Given the description of an element on the screen output the (x, y) to click on. 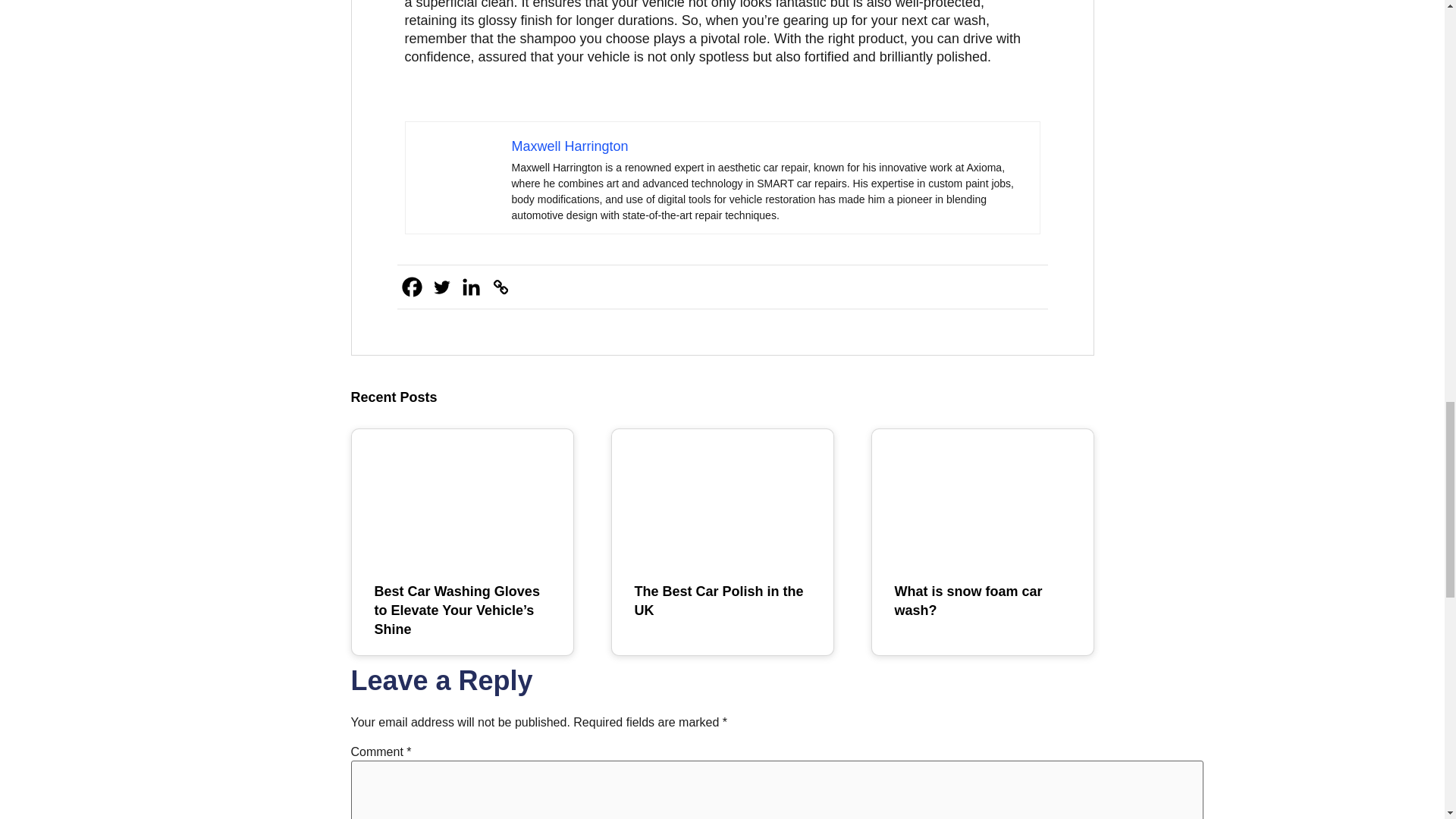
Linkedin (471, 286)
The Best Car Polish in the UK (718, 600)
Copy Link (499, 286)
Maxwell Harrington (569, 145)
Twitter (441, 286)
What is snow foam car wash? (968, 600)
Facebook (411, 286)
